Given the description of an element on the screen output the (x, y) to click on. 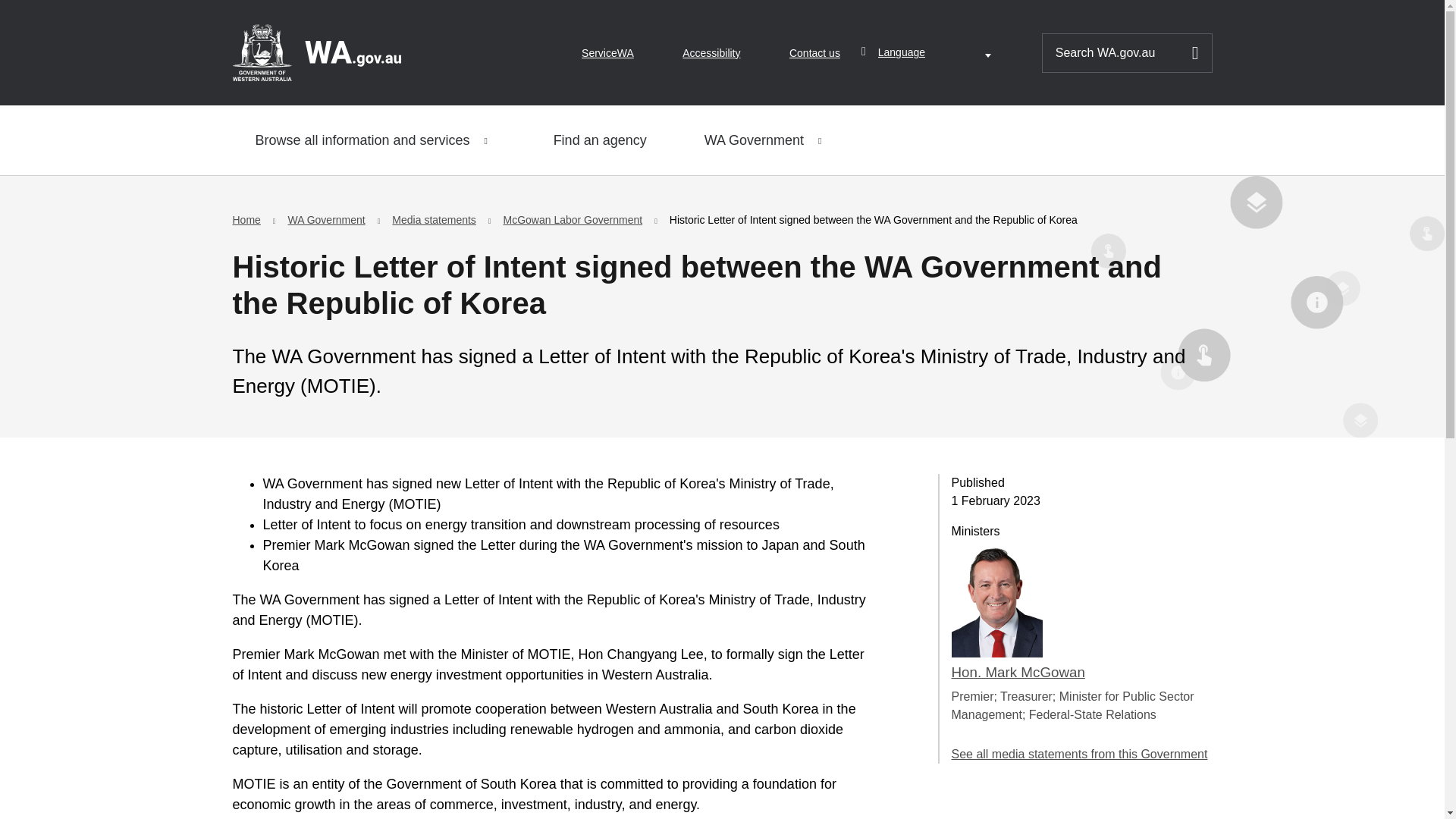
ServiceWA (606, 53)
Contact us (814, 53)
Browse all information and services (374, 140)
Skip to main content (22, 16)
Accessibility (710, 53)
Go to the WA.gov.au homepage (315, 51)
Language (936, 52)
